Given the description of an element on the screen output the (x, y) to click on. 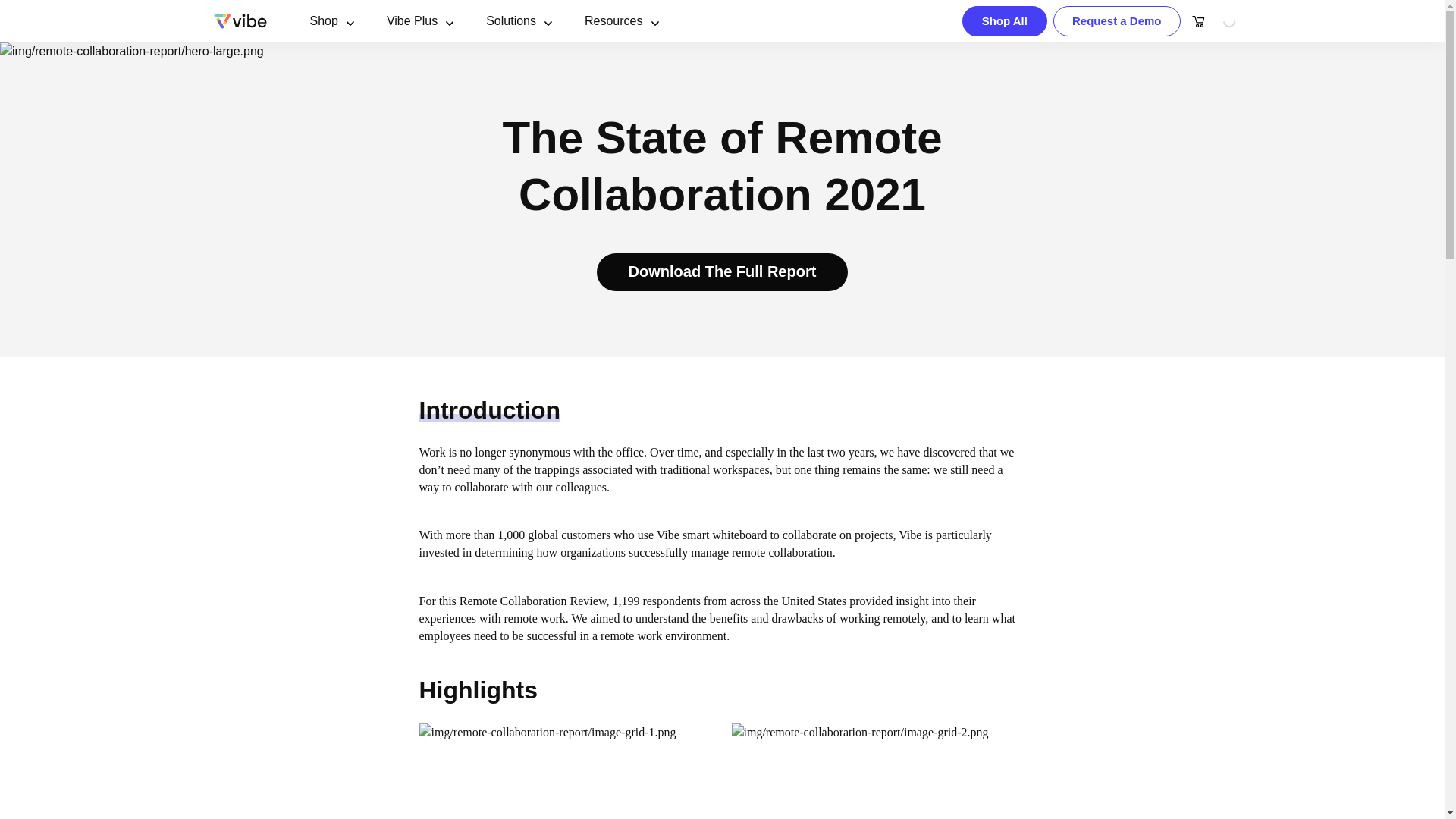
Vibe logo (239, 20)
